Given the description of an element on the screen output the (x, y) to click on. 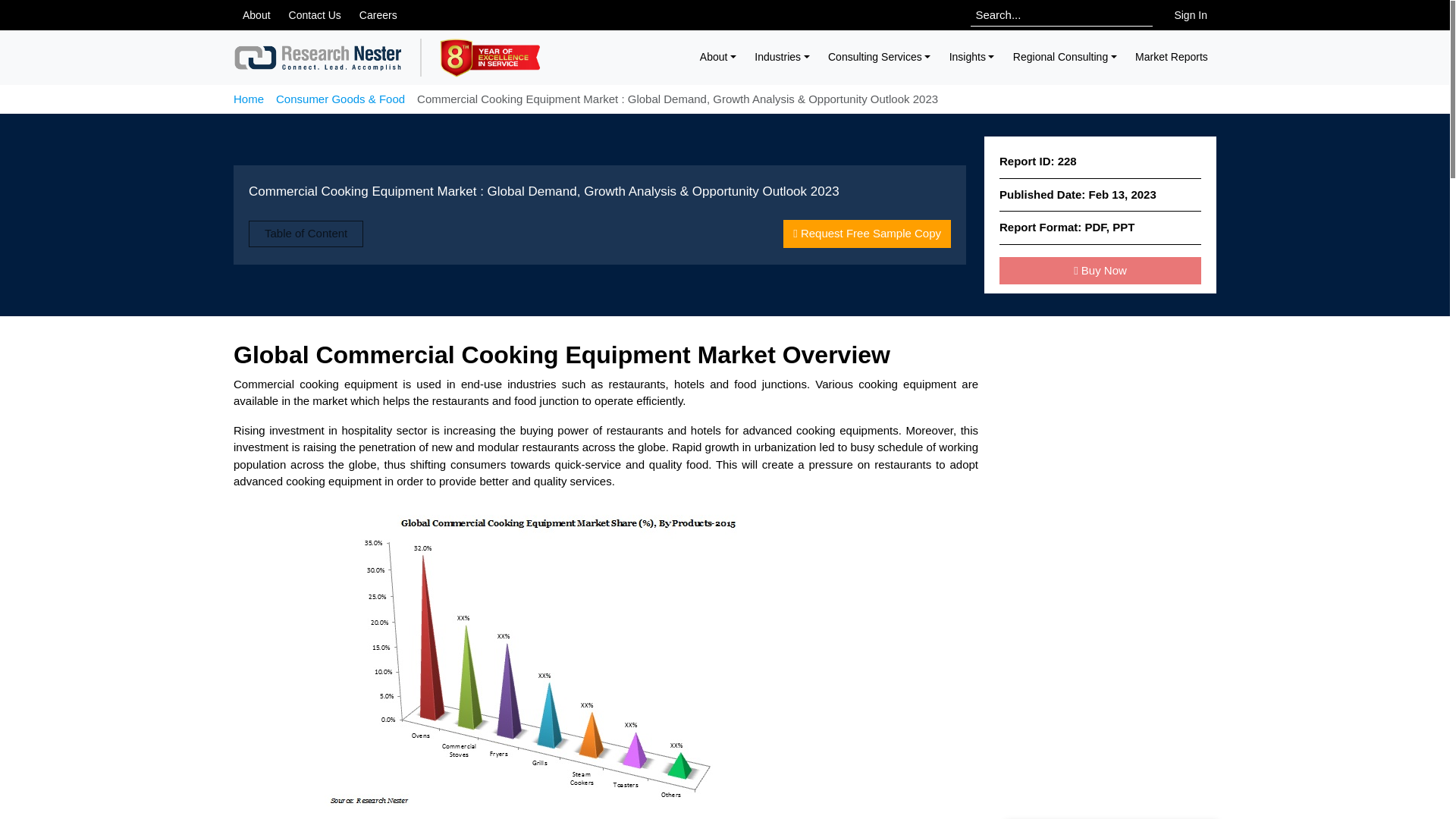
Sign In (1189, 15)
Sign In (1189, 15)
Contact Us (314, 15)
About (718, 57)
Careers (378, 15)
Contact Us (314, 15)
About (255, 15)
Research Nester (318, 57)
Industries (781, 57)
Media Center (255, 15)
Media Center (378, 15)
